Given the description of an element on the screen output the (x, y) to click on. 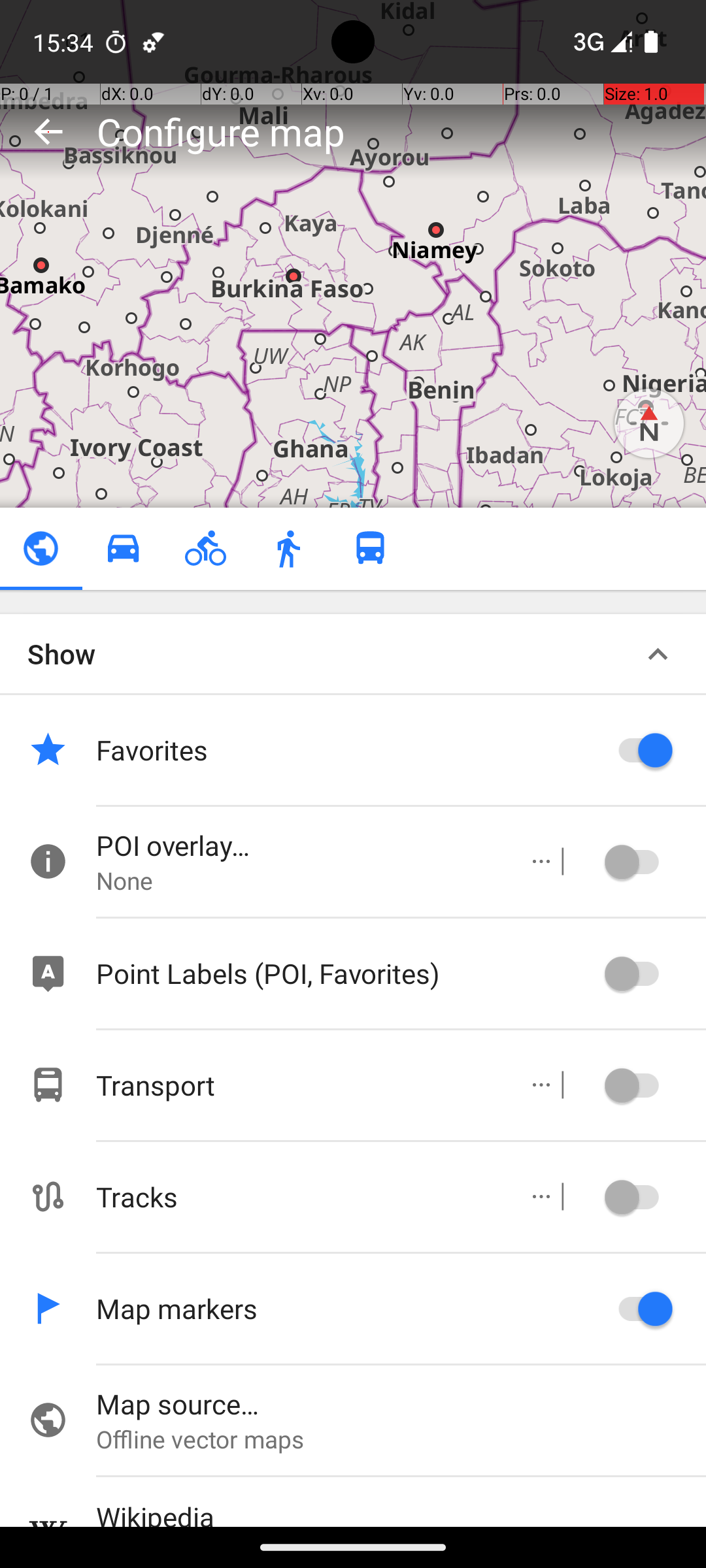
Back to map Element type: android.widget.ImageButton (48, 131)
Browse map checked Element type: android.widget.ImageView (40, 548)
Show Element type: android.widget.TextView (61, 653)
POI overlay… Element type: android.widget.TextView (298, 844)
Point Labels (POI, Favorites) Element type: android.widget.TextView (346, 972)
Transport Element type: android.widget.TextView (298, 1084)
Map source… Element type: android.widget.TextView (401, 1403)
Offline vector maps Element type: android.widget.TextView (401, 1438)
